Given the description of an element on the screen output the (x, y) to click on. 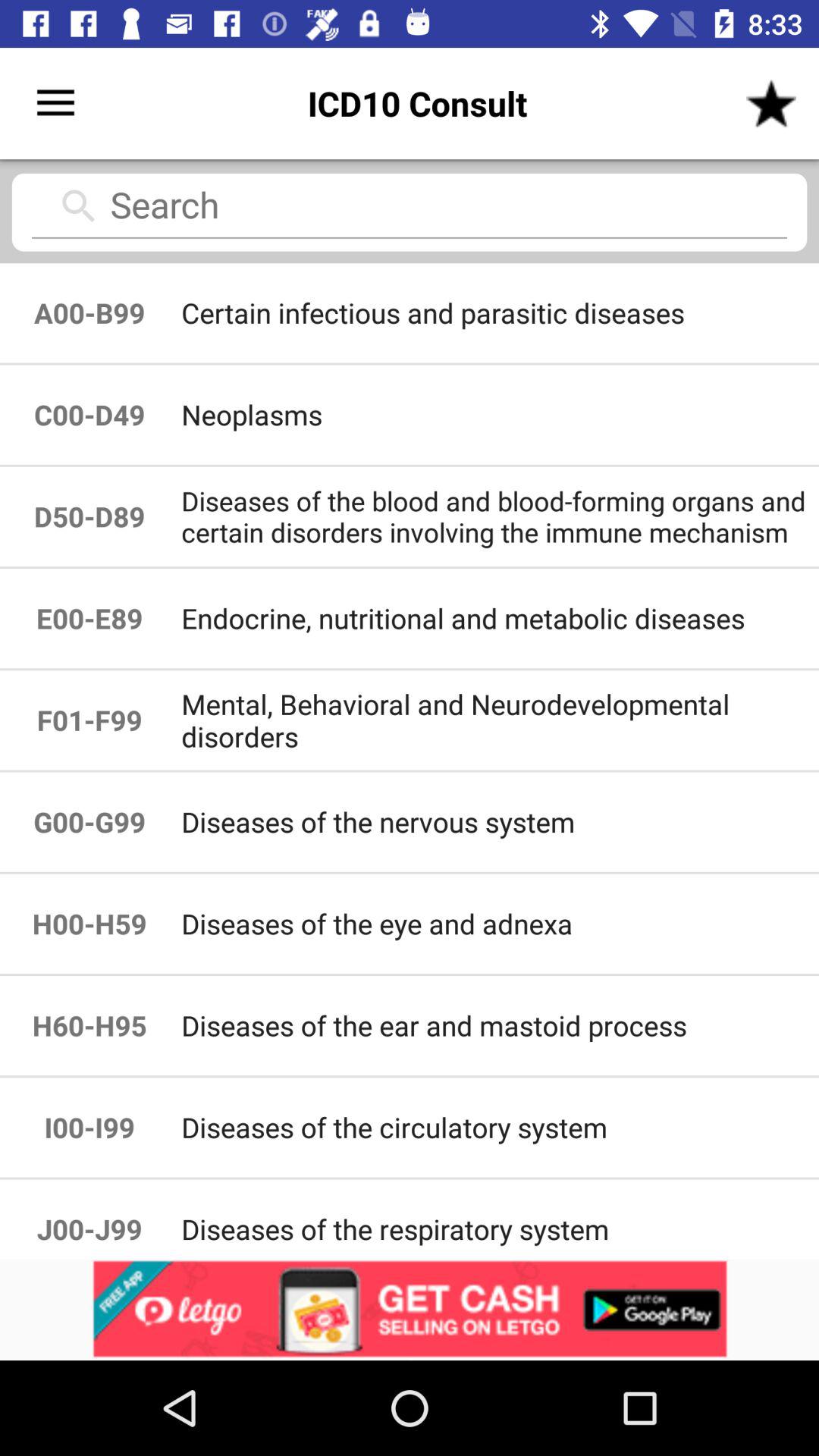
click item next to endocrine nutritional and (89, 720)
